Given the description of an element on the screen output the (x, y) to click on. 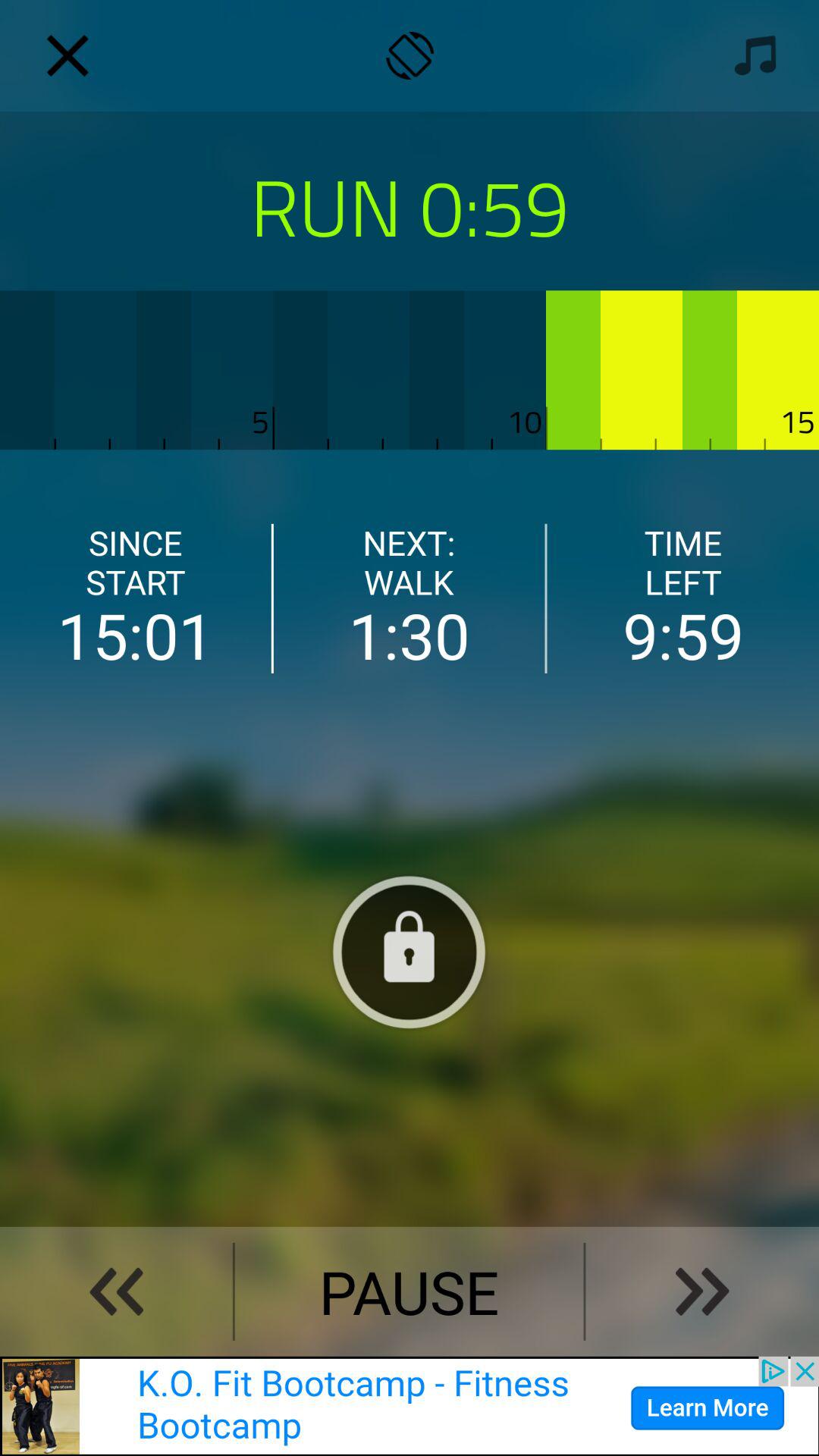
music options (751, 55)
